Given the description of an element on the screen output the (x, y) to click on. 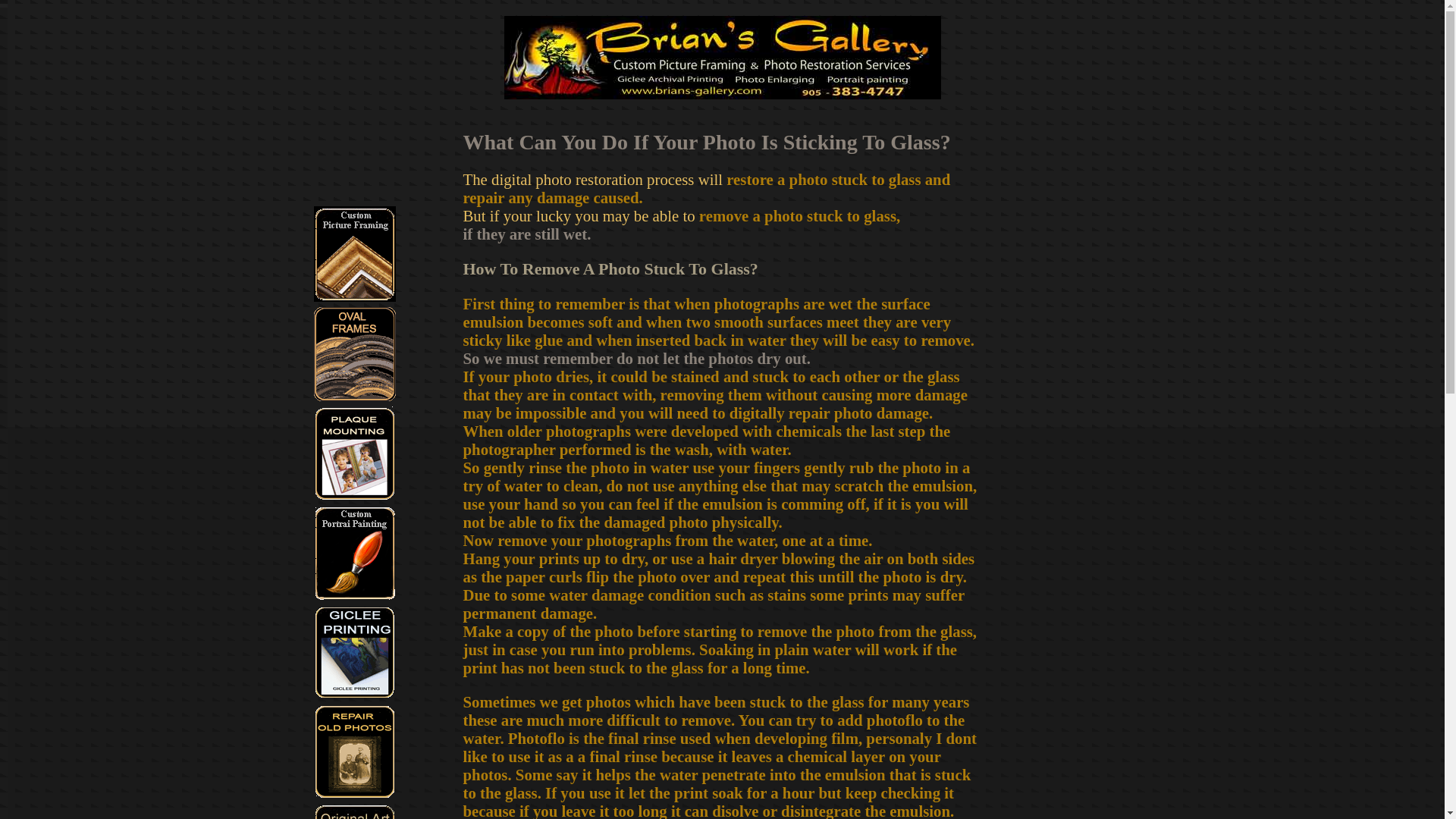
Plaque Mounting (355, 495)
custom picture framing (355, 295)
Brians Gallery info photo stuck to glass (721, 57)
Photo restoration services (355, 793)
Oval picture Frames and Convex Glass (355, 395)
Turn photos into paintings (355, 594)
Giclee Printing (355, 693)
